Given the description of an element on the screen output the (x, y) to click on. 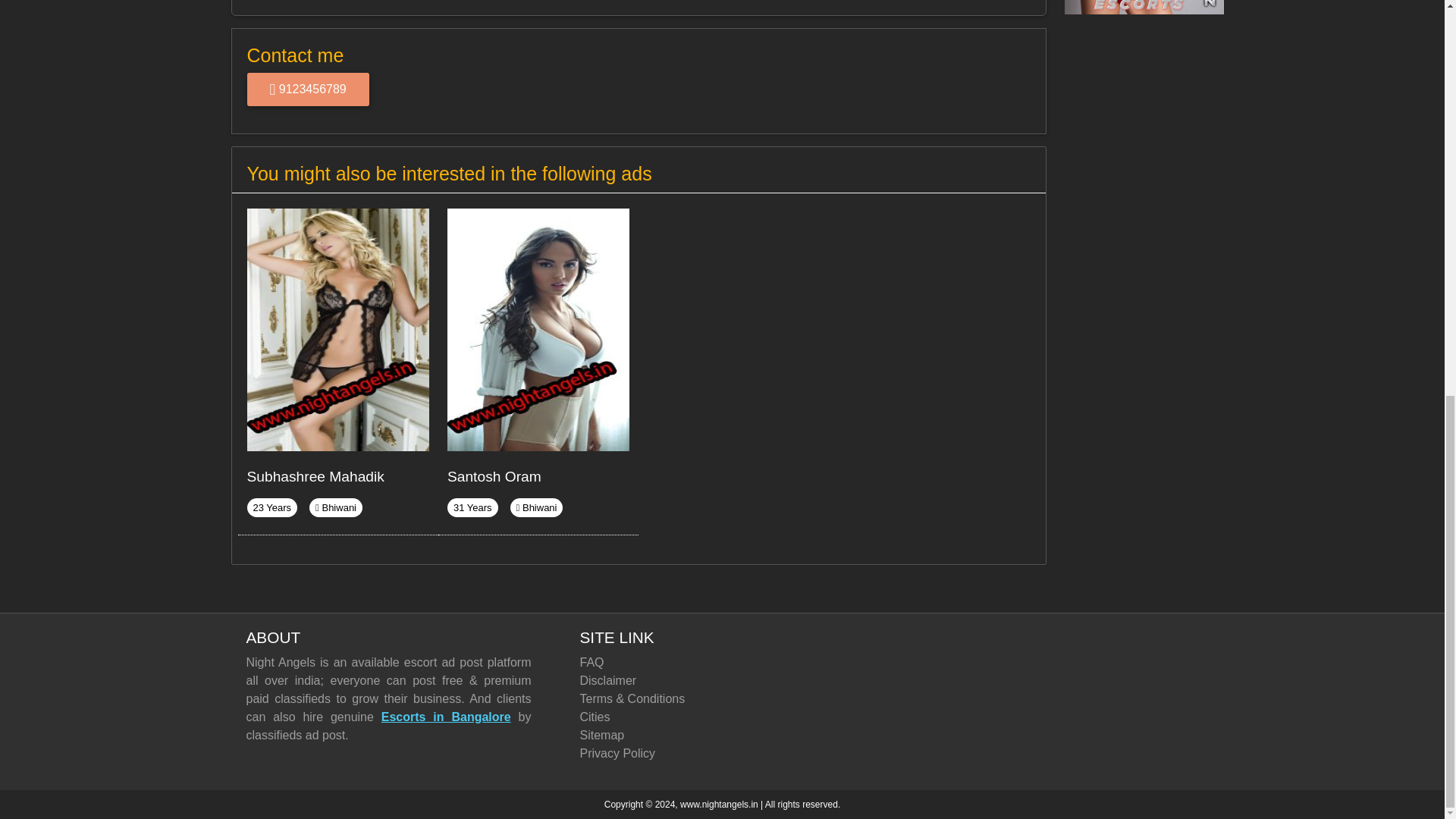
Privacy Policy (638, 753)
9123456789 (308, 89)
Subhashree Mahadik (315, 476)
Escorts in Bangalore (446, 716)
Sitemap (638, 735)
FAQ (638, 662)
Escorts in Bangalore (446, 716)
Disclaimer (638, 680)
Santosh Oram (493, 476)
Cities (638, 717)
